Given the description of an element on the screen output the (x, y) to click on. 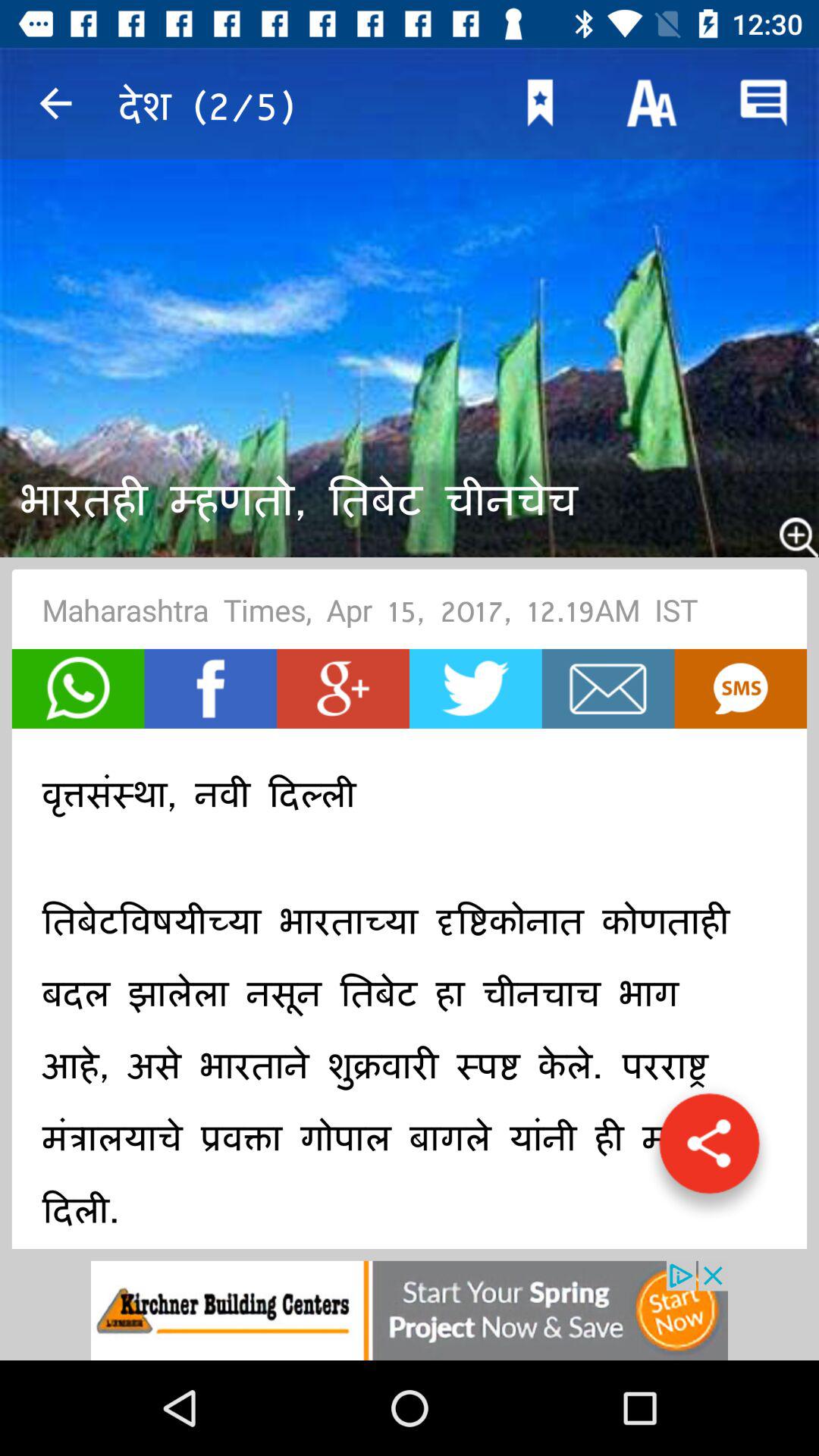
mail (608, 688)
